Given the description of an element on the screen output the (x, y) to click on. 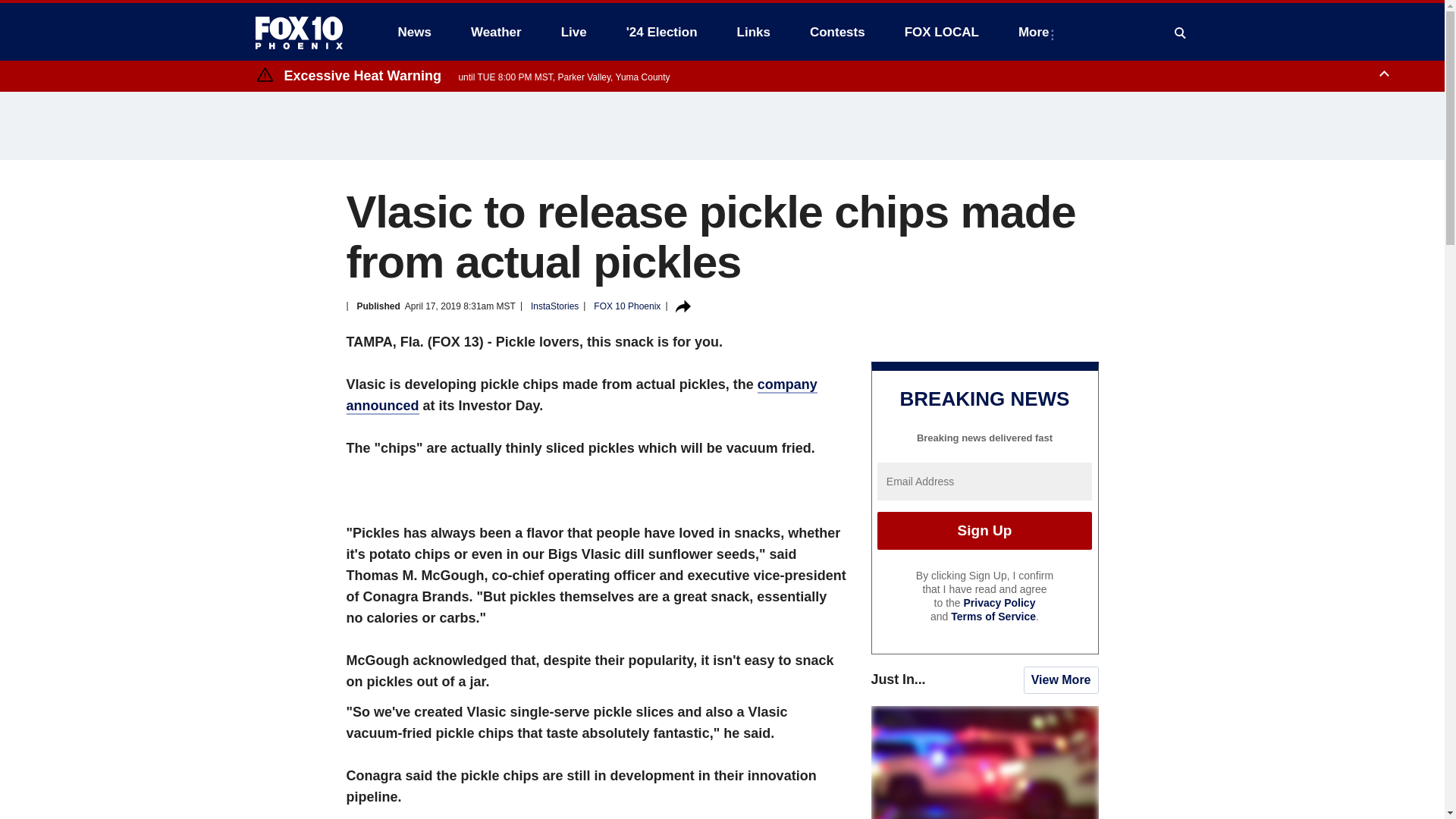
Sign Up (984, 530)
Contests (837, 32)
Links (754, 32)
News (413, 32)
'24 Election (662, 32)
More (1036, 32)
Weather (496, 32)
Live (573, 32)
FOX LOCAL (941, 32)
